Given the description of an element on the screen output the (x, y) to click on. 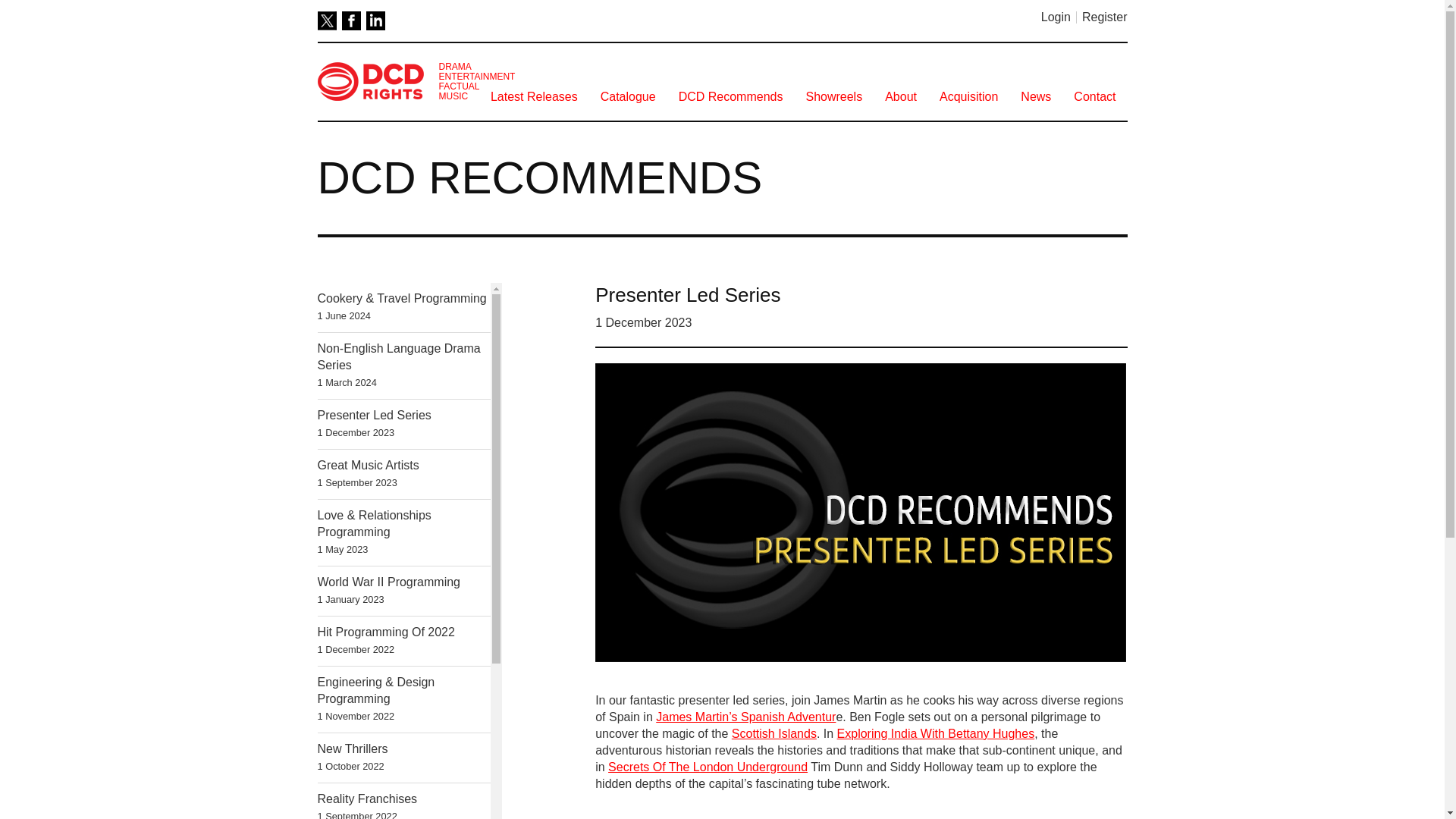
Register (1103, 16)
Acquisition (403, 423)
About (968, 96)
Catalogue (900, 96)
DCD Recommends (627, 96)
Facebook (403, 473)
Showreels (730, 96)
Latest Releases (349, 20)
News (833, 96)
Contact (534, 96)
